Given the description of an element on the screen output the (x, y) to click on. 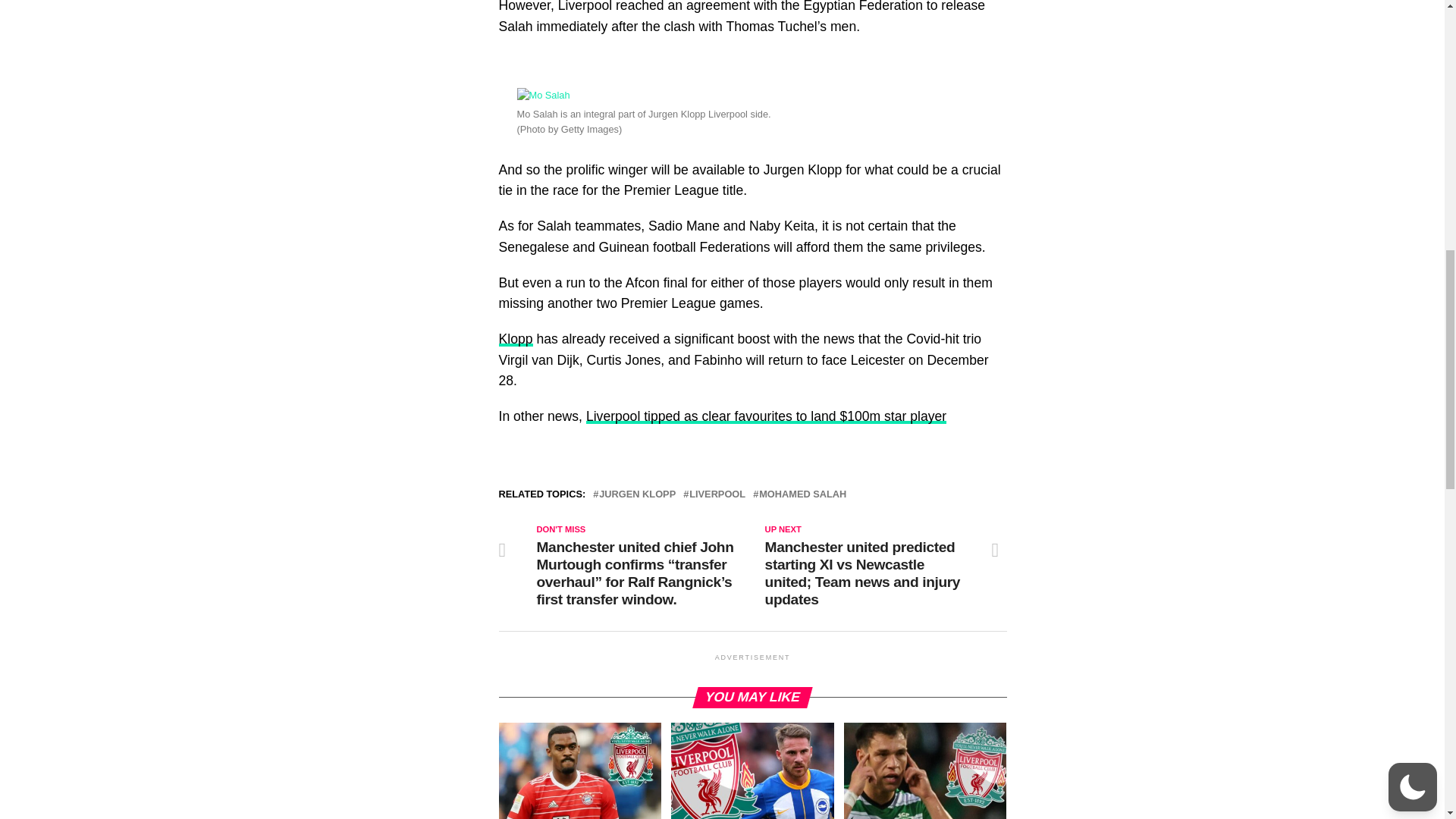
LIVERPOOL (716, 494)
MOHAMED SALAH (801, 494)
Klopp (515, 338)
JURGEN KLOPP (636, 494)
